Given the description of an element on the screen output the (x, y) to click on. 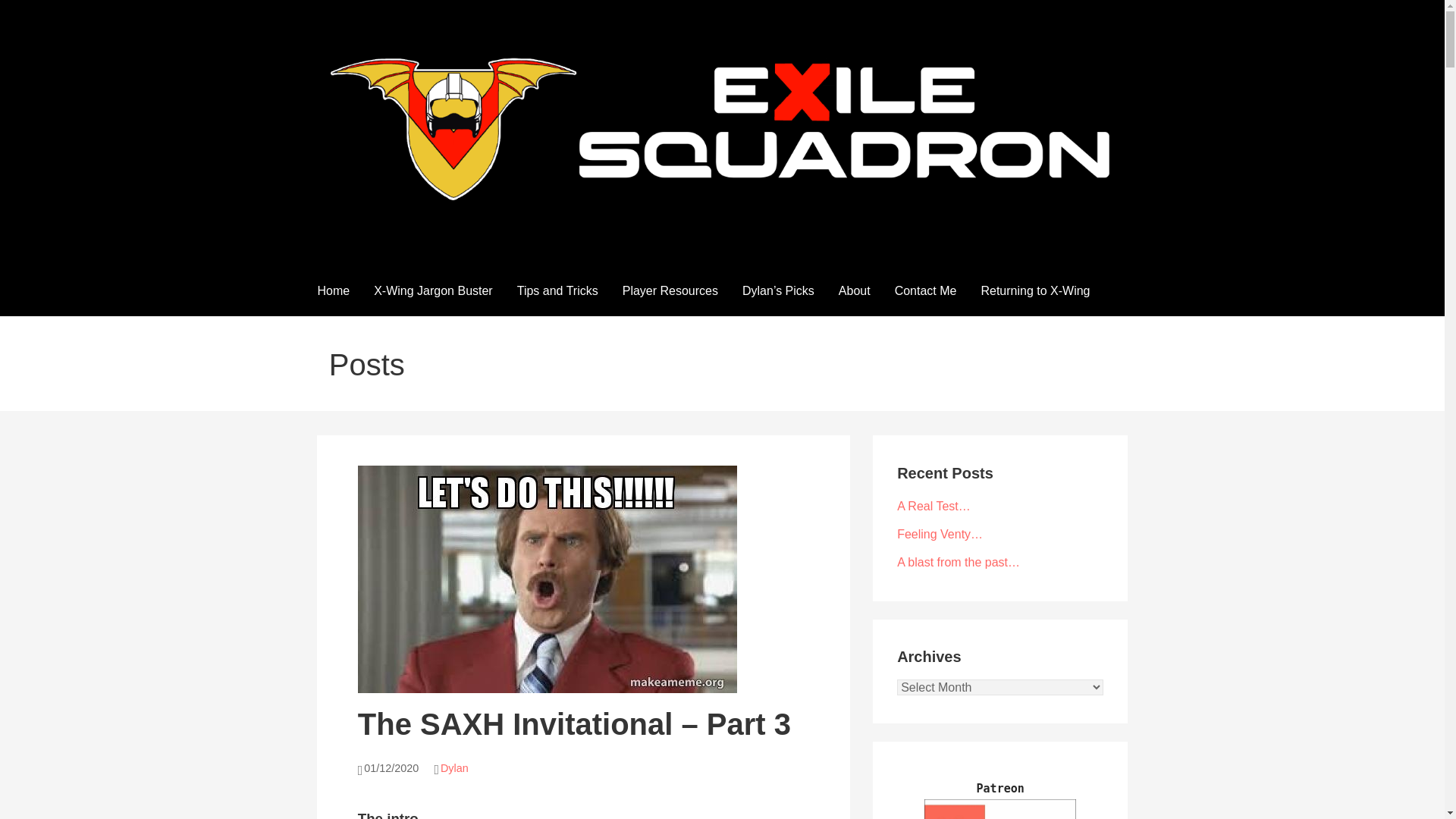
X-Wing Jargon Buster (433, 290)
Player Resources (670, 290)
Search (31, 15)
Tips and Tricks (557, 290)
Exile Squadron (412, 234)
Returning to X-Wing (1035, 290)
Contact Me (925, 290)
Home (332, 290)
Dylan (454, 767)
About (854, 290)
